Given the description of an element on the screen output the (x, y) to click on. 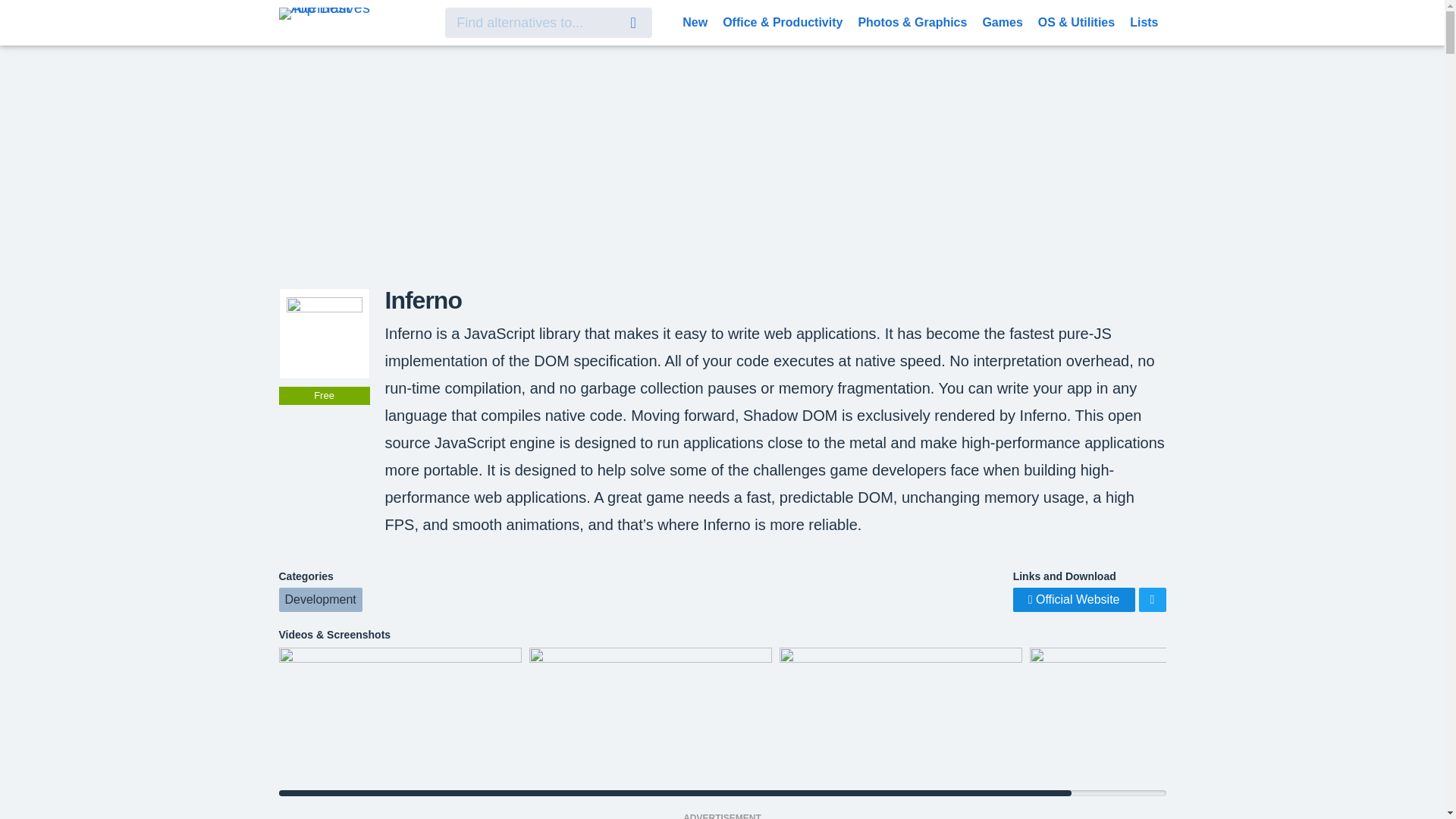
Games (1001, 21)
Official Website (1074, 599)
Lists (1144, 21)
Development (320, 599)
Twitter (1152, 599)
New (694, 21)
